Given the description of an element on the screen output the (x, y) to click on. 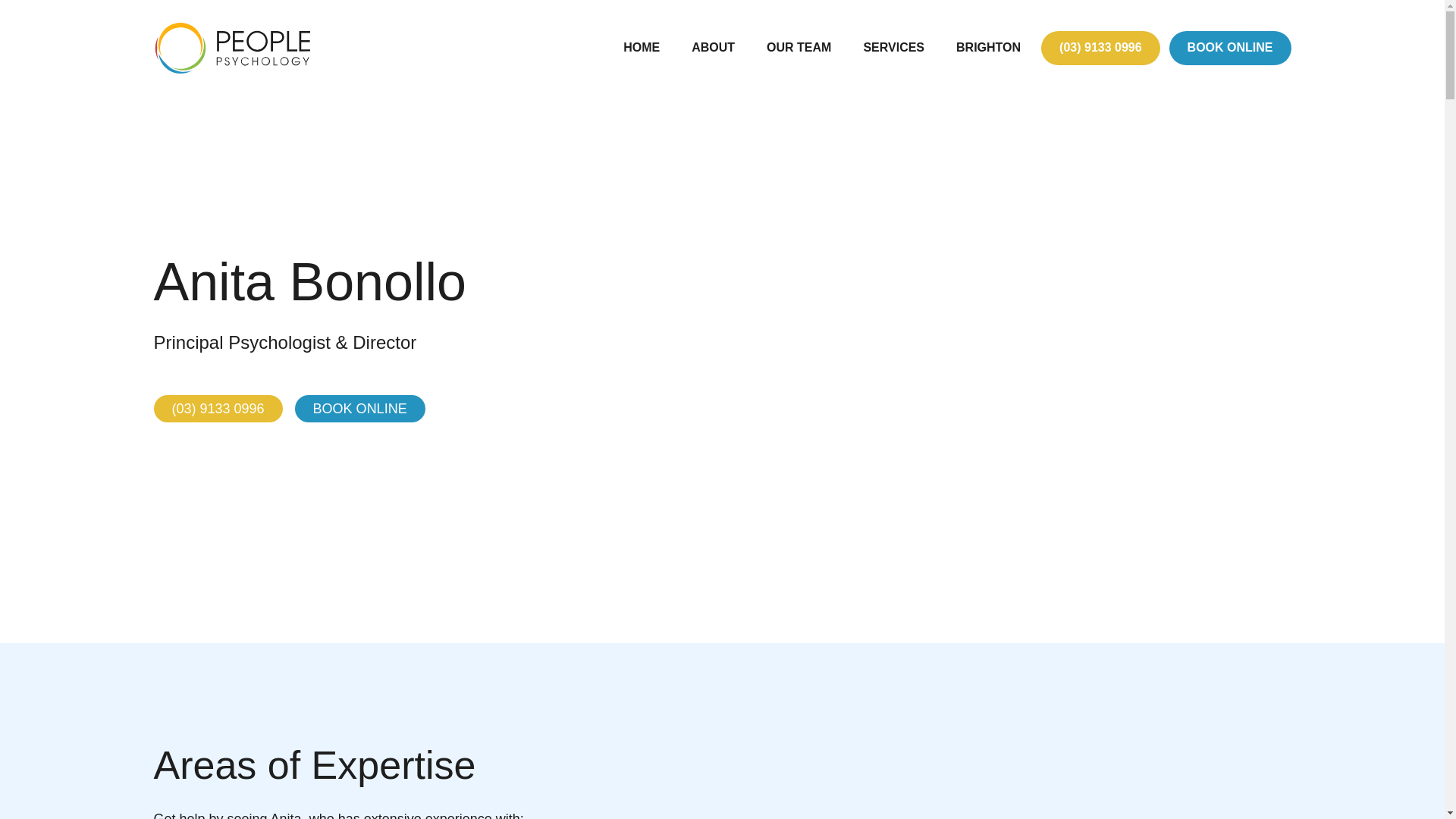
Home (641, 47)
Services (893, 47)
ABOUT (712, 47)
BOOK ONLINE (1230, 47)
Brighton (988, 47)
Book Online (1230, 47)
OUR TEAM (799, 47)
BRIGHTON (988, 47)
SERVICES (893, 47)
Our Team (799, 47)
